Given the description of an element on the screen output the (x, y) to click on. 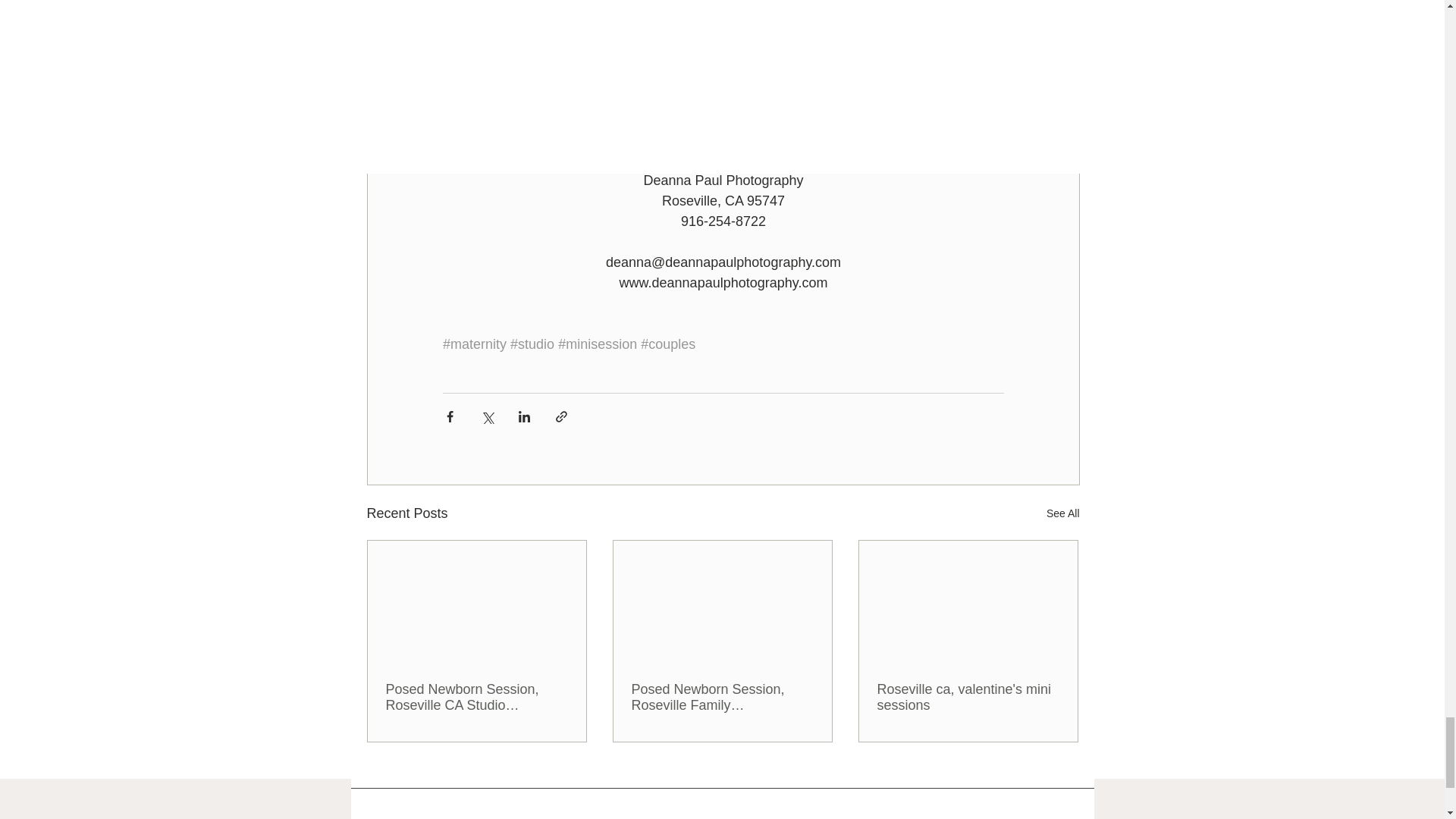
Posed Newborn Session, Roseville CA Studio Photographer (476, 697)
See All (1063, 513)
Roseville ca, valentine's mini sessions (967, 697)
Posed Newborn Session, Roseville Family Photographer (721, 697)
